Given the description of an element on the screen output the (x, y) to click on. 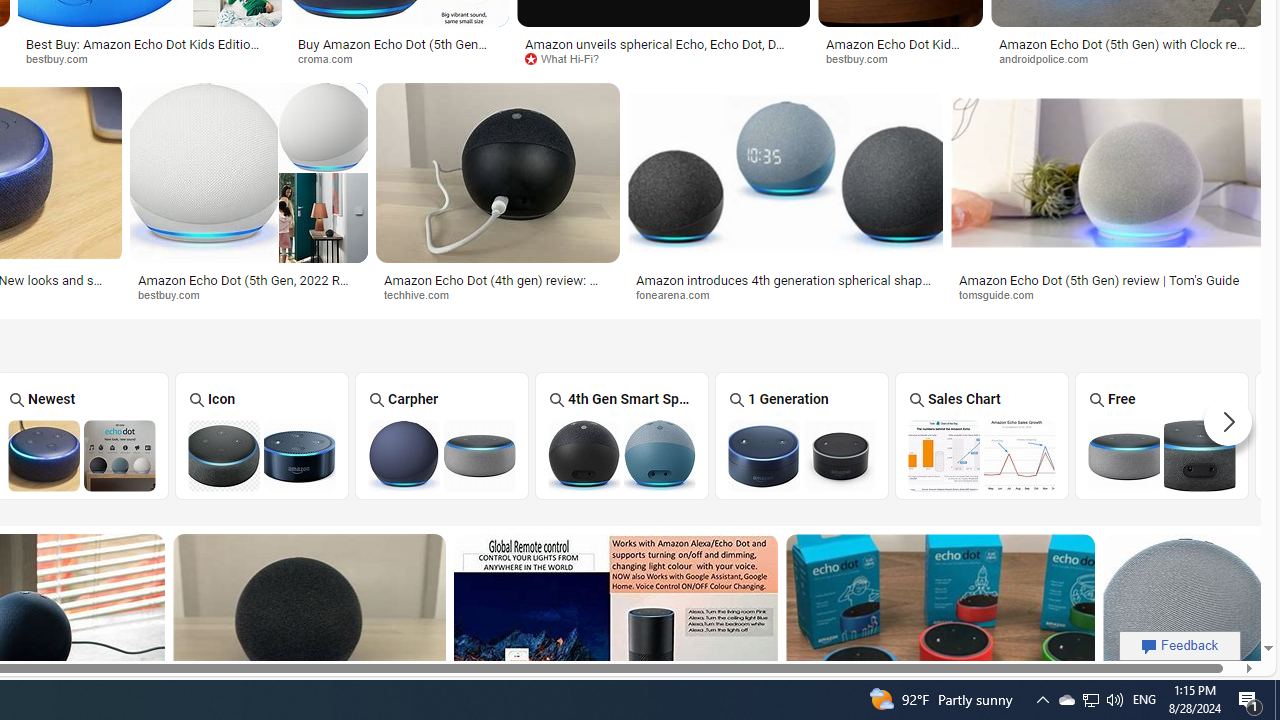
Amazon Echo Dot (5th Gen) review | Tom's Guide (1108, 279)
Amazon Echo Dot 1 Generation 1 Generation (801, 435)
Amazon Echo Dot 4th Gen Smart Speaker with Alexa (622, 455)
bestbuy.com (175, 294)
fonearena.com (785, 295)
tomsguide.com (1108, 295)
androidpolice.com (1050, 57)
Free (1162, 435)
